Given the description of an element on the screen output the (x, y) to click on. 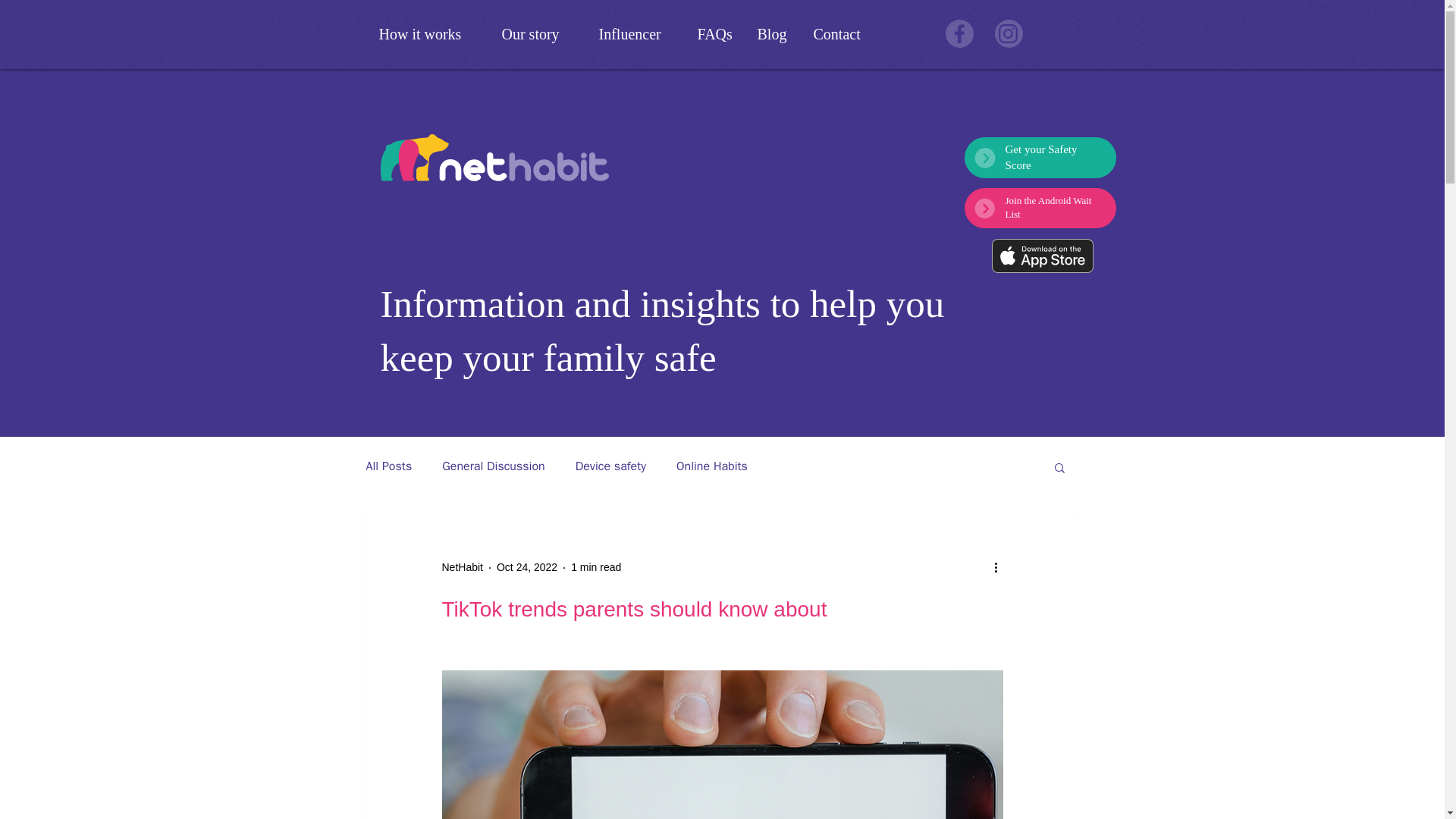
How it works (427, 33)
Contact (844, 33)
Influencer (635, 33)
Get your Safety Score (1041, 157)
Oct 24, 2022 (526, 567)
NetHabit (461, 567)
1 min read (595, 567)
Online Habits (712, 466)
General Discussion (493, 466)
Blog (773, 33)
